Given the description of an element on the screen output the (x, y) to click on. 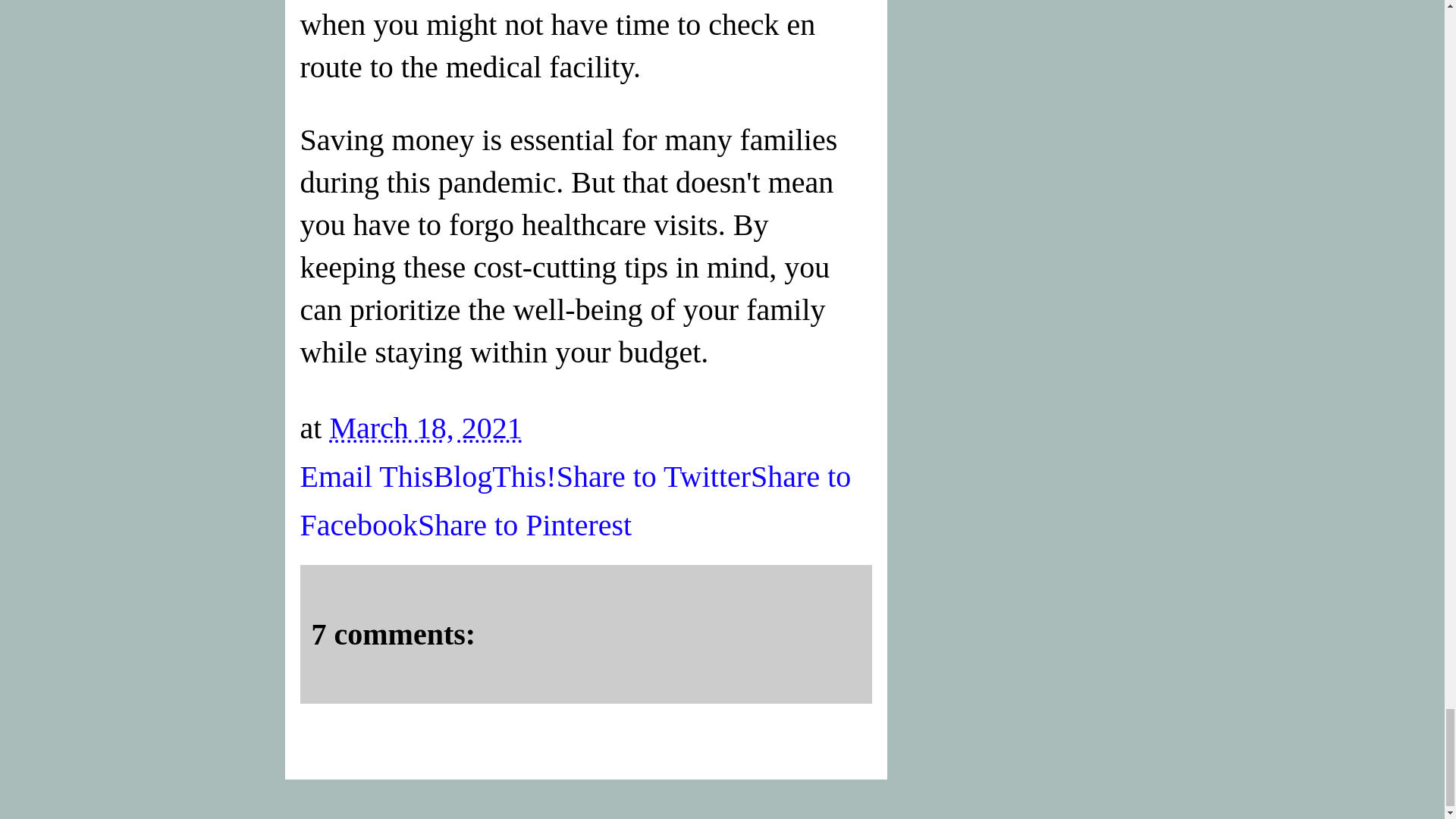
Share to Pinterest (524, 524)
BlogThis! (494, 476)
Share to Twitter (653, 476)
Email This (366, 476)
Share to Facebook (575, 500)
BlogThis! (494, 476)
permanent link (425, 428)
March 18, 2021 (425, 428)
Email This (366, 476)
Share to Facebook (575, 500)
